Given the description of an element on the screen output the (x, y) to click on. 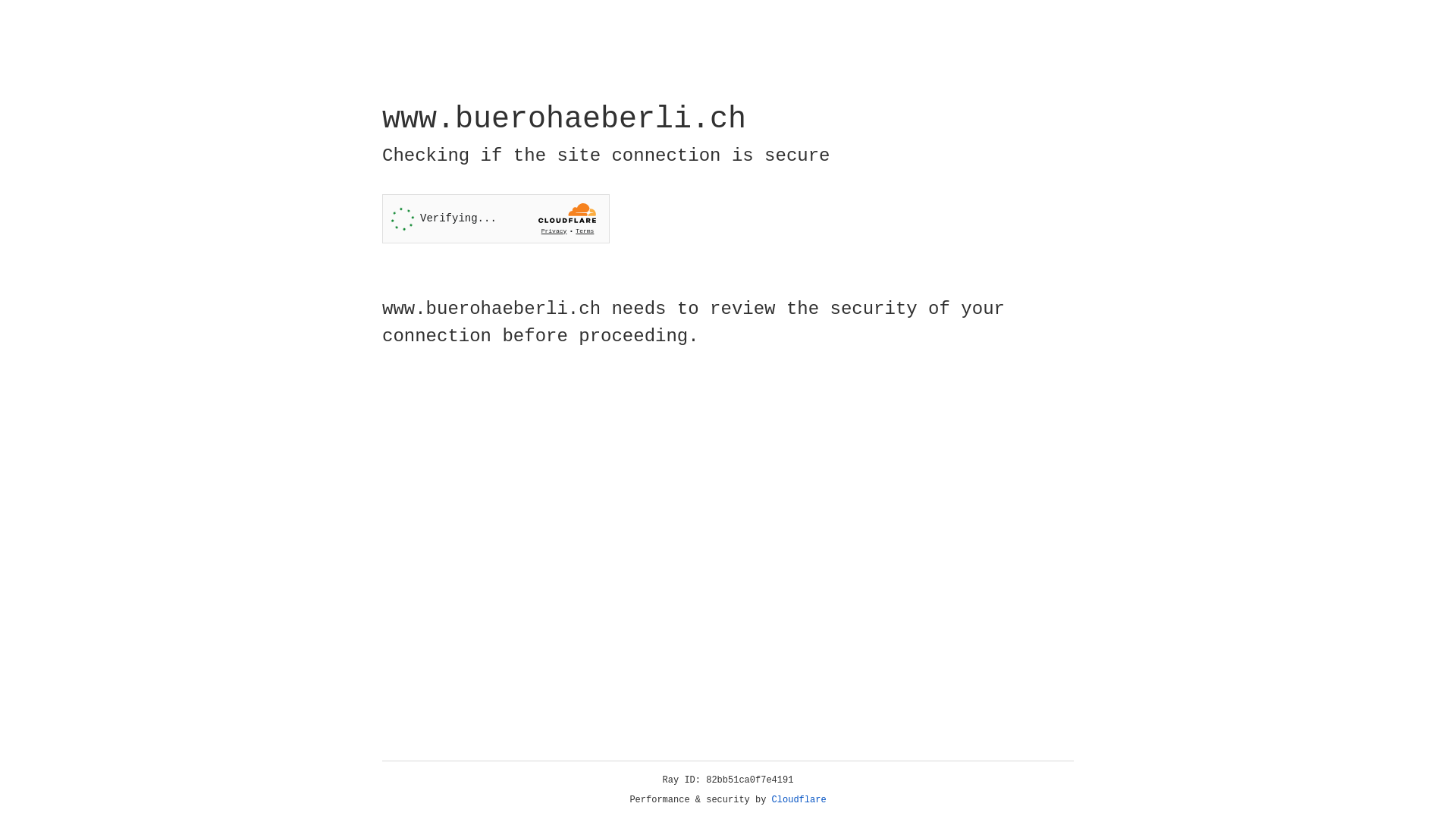
Widget containing a Cloudflare security challenge Element type: hover (495, 218)
Cloudflare Element type: text (798, 799)
